Given the description of an element on the screen output the (x, y) to click on. 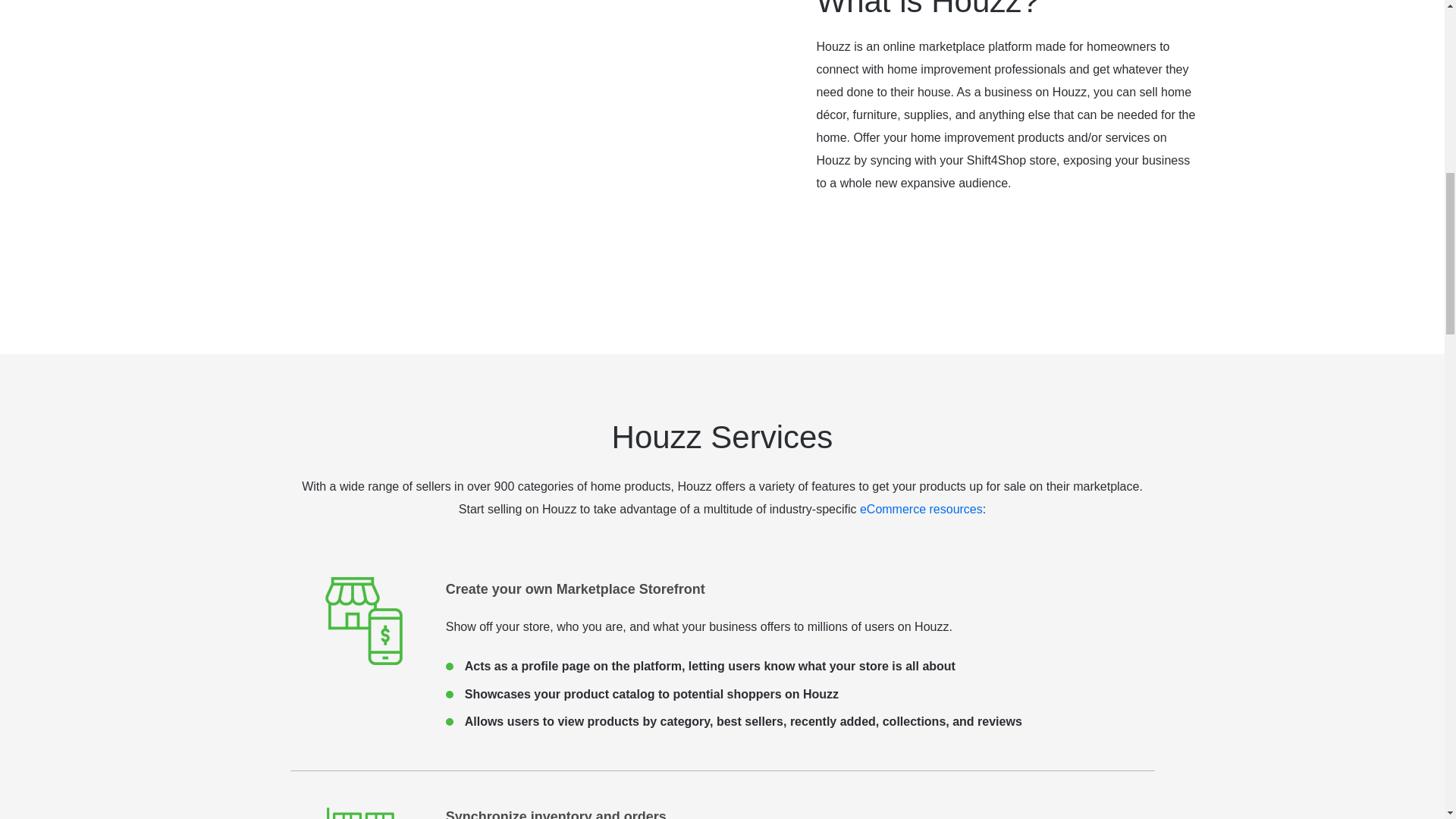
eCommerce resources (921, 508)
Synchronize inventory (362, 810)
Marketplace Storefront (362, 621)
